Given the description of an element on the screen output the (x, y) to click on. 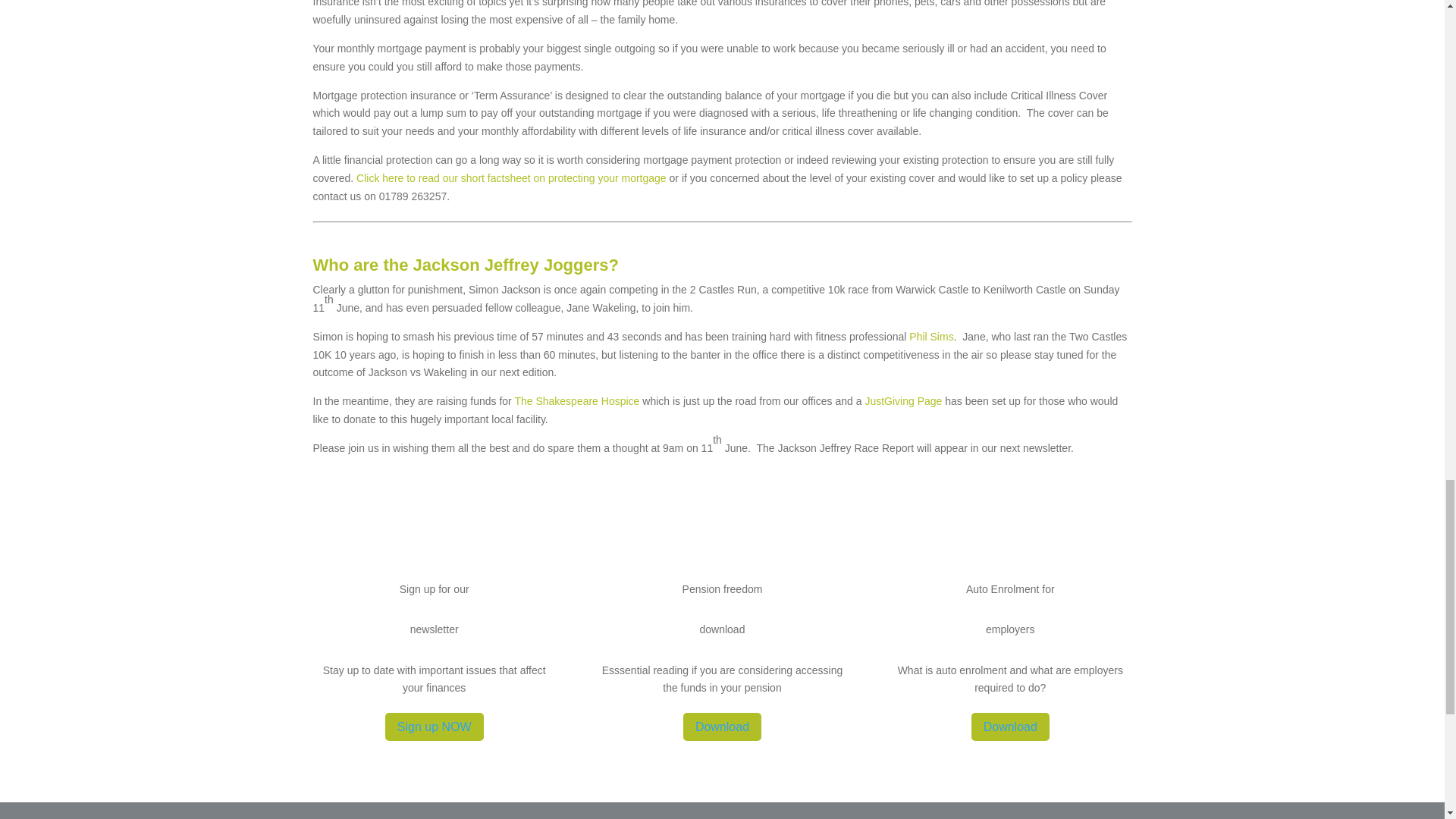
The Shakespeare Hospice (576, 400)
Phil Sims (930, 336)
JustGiving Page (903, 400)
Sign up NOW (434, 726)
Download (721, 726)
Download (1010, 726)
